Given the description of an element on the screen output the (x, y) to click on. 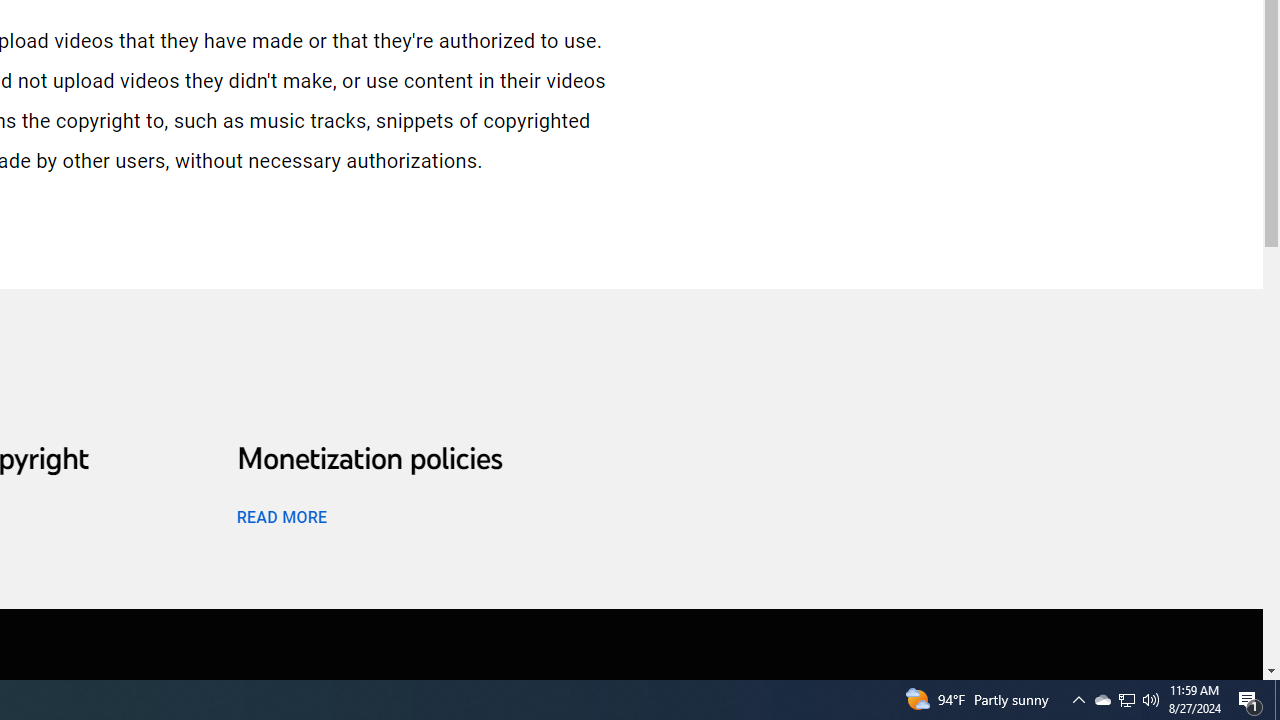
READ MORE (281, 516)
